Given the description of an element on the screen output the (x, y) to click on. 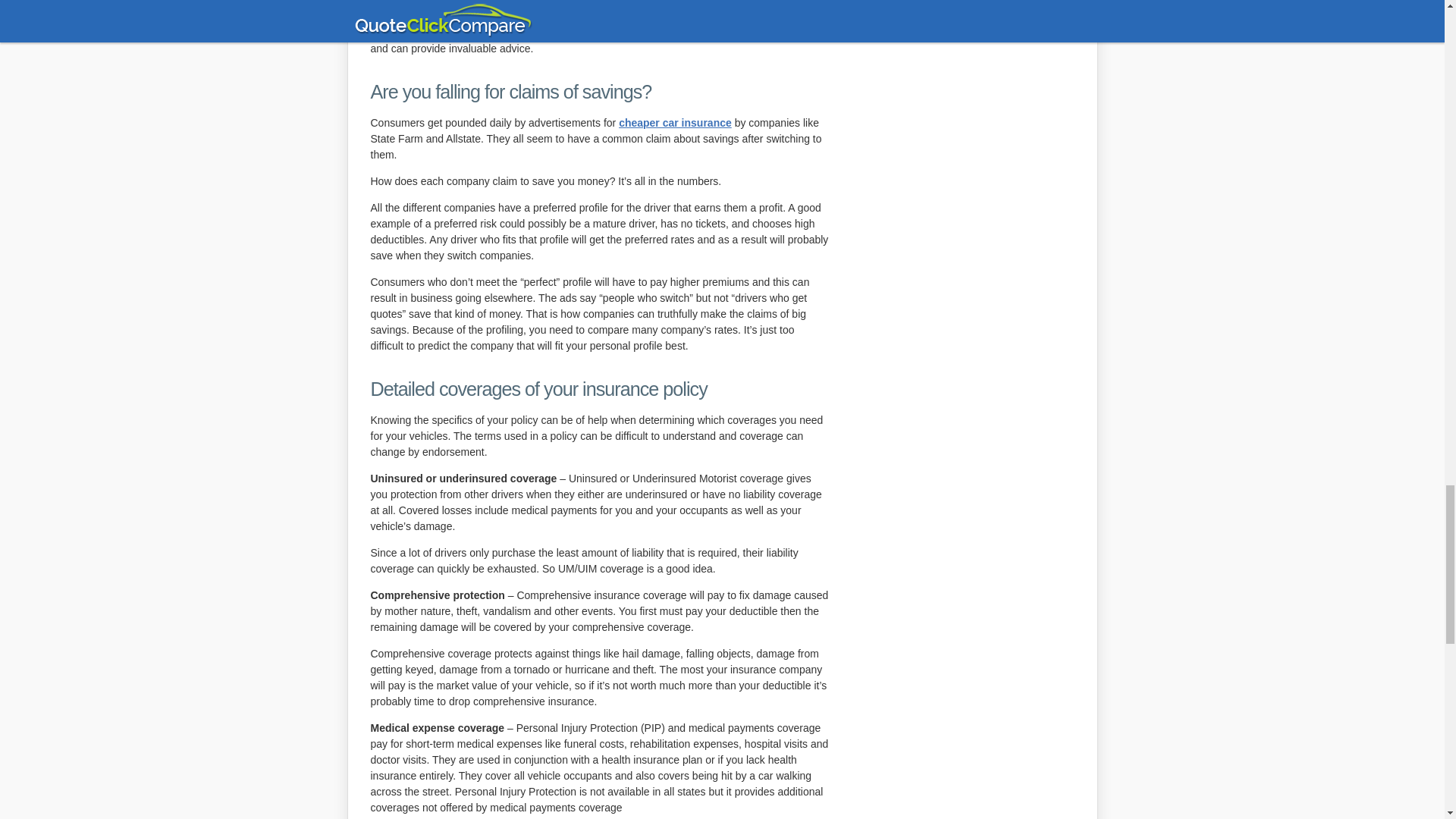
cheaper car insurance (675, 122)
this quick form (708, 32)
